Given the description of an element on the screen output the (x, y) to click on. 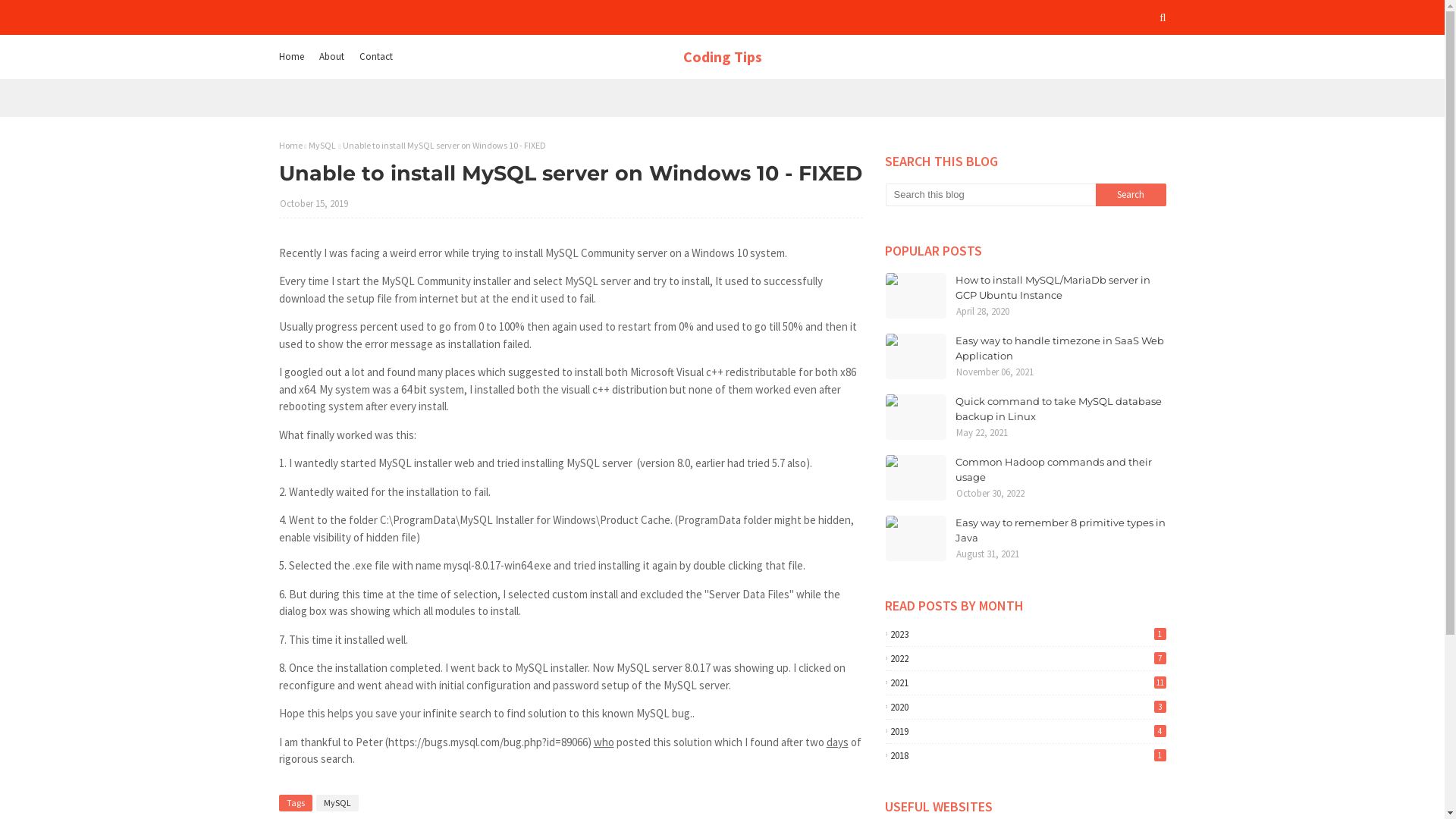
Coding Tips Element type: text (721, 56)
2021
11 Element type: text (1025, 682)
Easy way to remember 8 primitive types in Java Element type: text (1060, 530)
2020
3 Element type: text (1025, 706)
Contact Element type: text (374, 56)
2022
7 Element type: text (1025, 658)
Easy way to handle timezone in SaaS Web Application Element type: text (1060, 348)
2019
4 Element type: text (1025, 730)
MySQL Element type: text (336, 802)
Home Element type: text (293, 56)
MySQL Element type: text (321, 144)
2018
1 Element type: text (1025, 755)
Home Element type: text (290, 144)
Quick command to take MySQL database backup in Linux Element type: text (1060, 408)
Common Hadoop commands and their usage Element type: text (1060, 469)
Search Element type: text (1130, 194)
How to install MySQL/MariaDb server in GCP Ubuntu Instance Element type: text (1060, 287)
2023
1 Element type: text (1025, 633)
About Element type: text (331, 56)
